Given the description of an element on the screen output the (x, y) to click on. 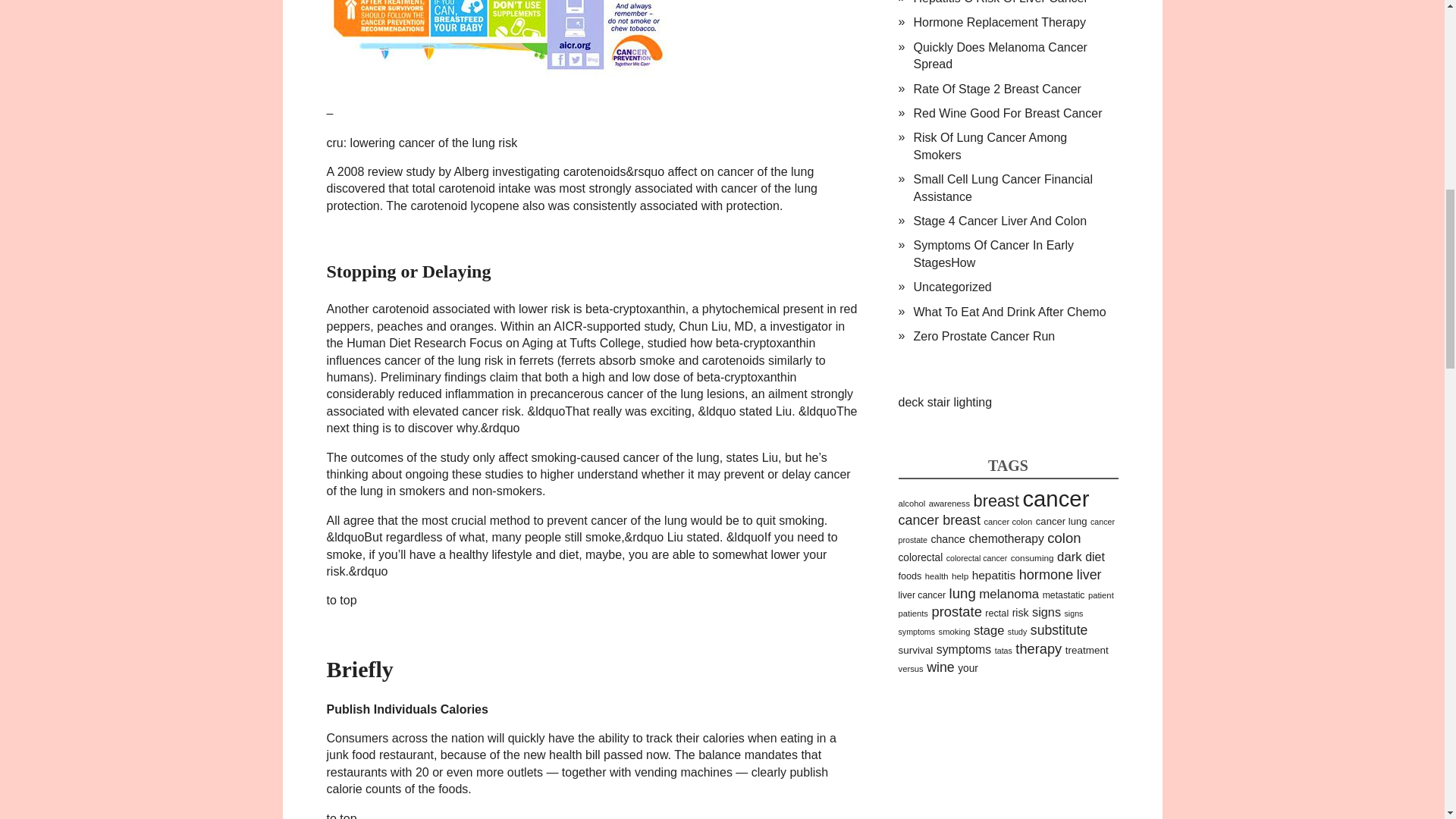
Aicr lesions, an (500, 42)
